Given the description of an element on the screen output the (x, y) to click on. 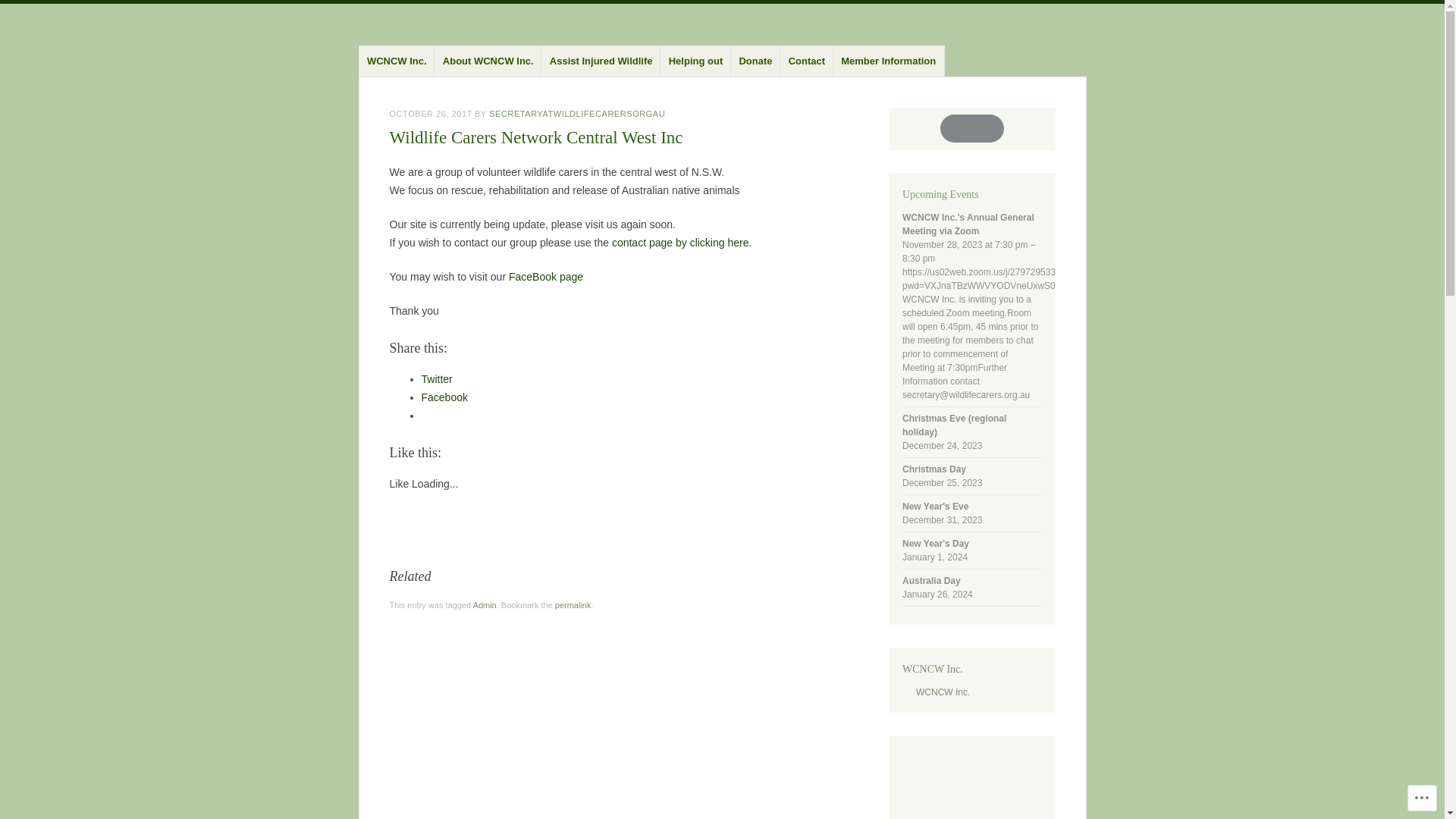
FaceBook page Element type: text (545, 276)
Helping out Element type: text (695, 61)
SECRETARYATWILDLIFECARERSORGAU Element type: text (577, 113)
permalink Element type: text (573, 604)
Admin Element type: text (484, 604)
About WCNCW Inc. Element type: text (487, 61)
Donate Element type: text (755, 61)
WCNCW Inc. Element type: text (942, 692)
Assist Injured Wildlife Element type: text (600, 61)
OCTOBER 26, 2017 Element type: text (430, 113)
WCNCW Inc. Element type: text (396, 61)
Donate Element type: text (972, 128)
Contact Element type: text (806, 61)
contact page by clicking here Element type: text (680, 242)
Facebook Element type: text (444, 397)
Twitter Element type: text (436, 379)
Like or Reblog Element type: hover (624, 537)
WCNCW Inc. Element type: text (932, 668)
Member Information Element type: text (888, 61)
Skip to content Element type: text (397, 49)
